Given the description of an element on the screen output the (x, y) to click on. 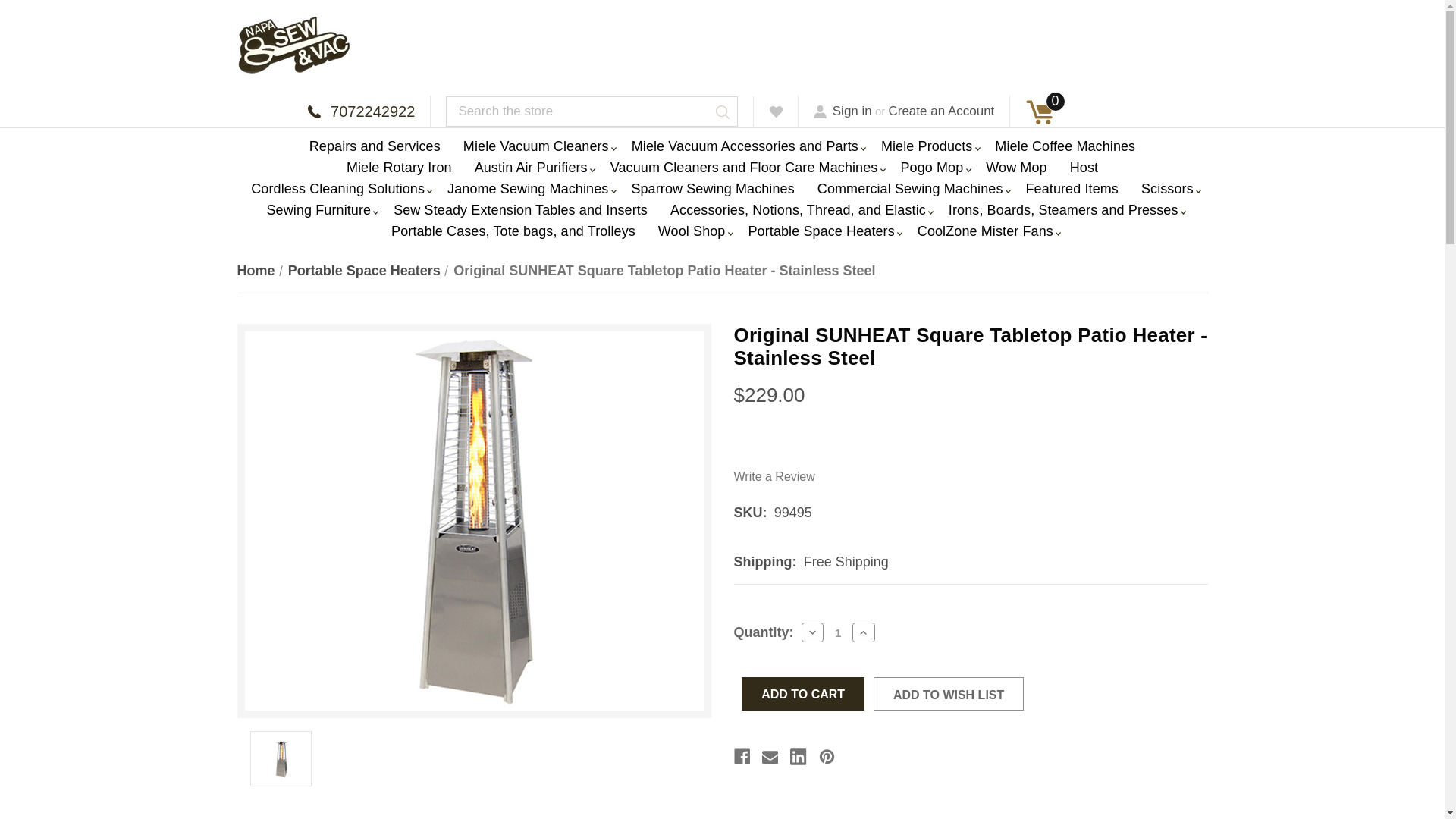
Miele Coffee Machines (1065, 146)
7072242922 (360, 111)
Miele Vacuum Cleaners (535, 146)
7072242922 (360, 111)
Miele Vacuum Accessories and Parts (744, 146)
Search (722, 111)
Search (722, 111)
Sign in (842, 111)
Repairs and Services (374, 146)
Create an Account (941, 111)
Add to Cart (802, 693)
Miele Products (926, 146)
1 (837, 632)
